Given the description of an element on the screen output the (x, y) to click on. 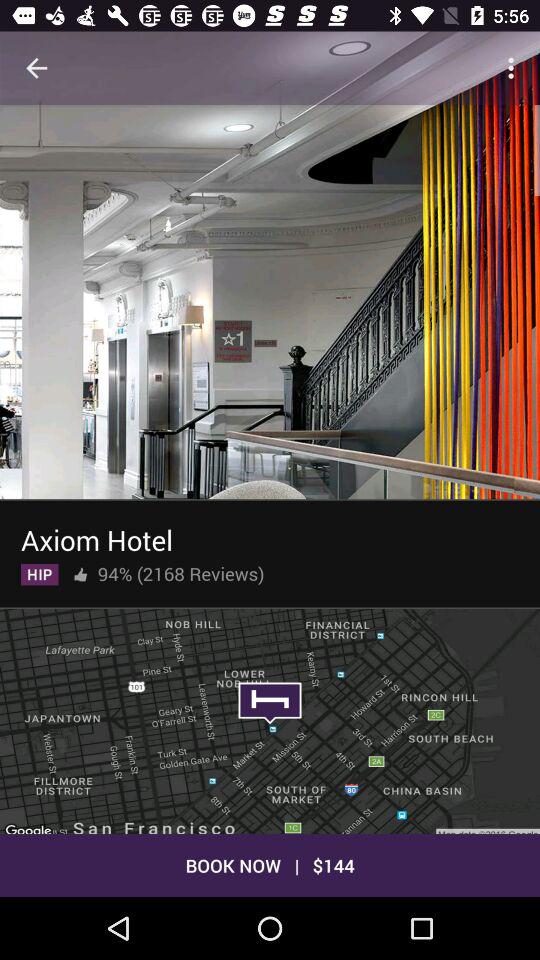
press icon at the top right corner (513, 67)
